Given the description of an element on the screen output the (x, y) to click on. 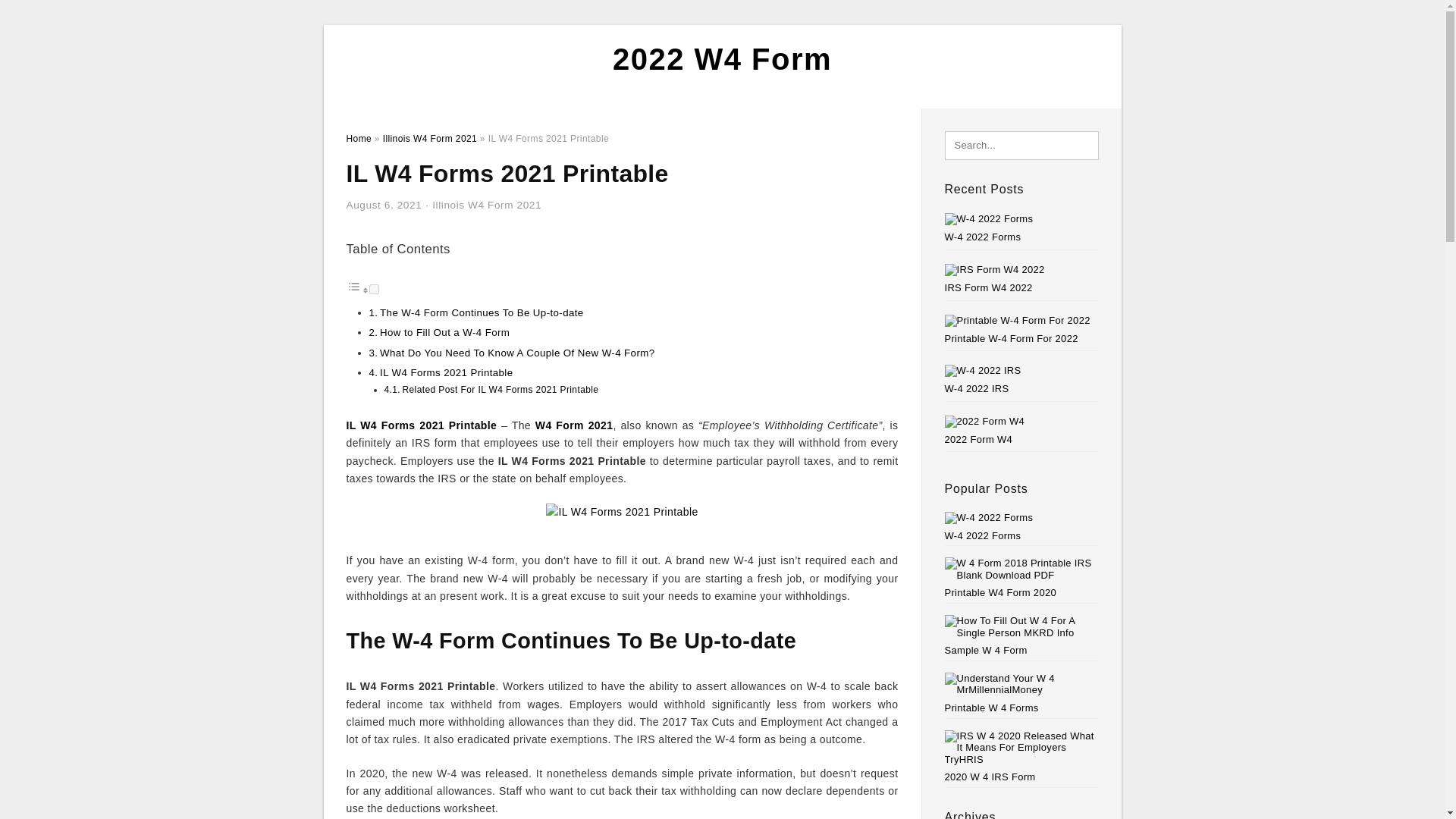
IRS Form W4 2022 (988, 287)
Illinois W4 Form 2021 (486, 204)
Home (358, 138)
W4 Form 2021 (573, 425)
W-4 2022 Forms (983, 236)
W-4 2022 IRS (976, 388)
Related Post For IL W4 Forms 2021 Printable (499, 389)
How to Fill Out a W-4 Form (444, 332)
How to Fill Out a W-4 Form (444, 332)
2022 W4 Form (721, 59)
IL W4 Forms 2021 Printable (421, 425)
What Do You Need To Know A Couple Of New W-4 Form? (516, 352)
w 4 form 2021 10 (621, 519)
Related Post For IL W4 Forms 2021 Printable (499, 389)
